Given the description of an element on the screen output the (x, y) to click on. 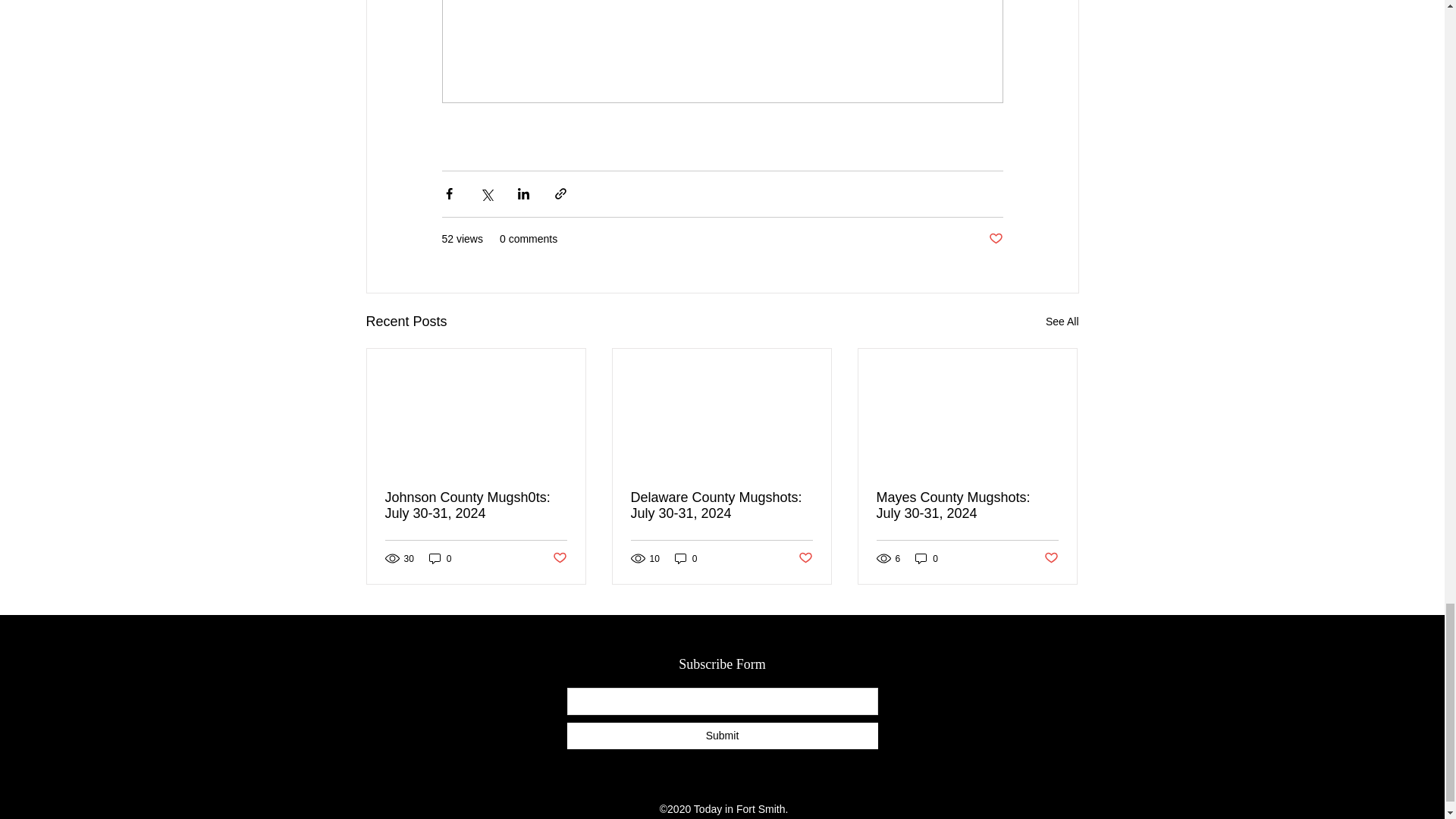
Post not marked as liked (804, 558)
Johnson County Mugsh0ts: July 30-31, 2024 (476, 505)
0 (685, 558)
Mayes County Mugshots: July 30-31, 2024 (967, 505)
0 (440, 558)
Delaware County Mugshots: July 30-31, 2024 (721, 505)
Submit (722, 734)
0 (926, 558)
See All (1061, 321)
Post not marked as liked (558, 558)
Post not marked as liked (1050, 558)
Post not marked as liked (995, 238)
